Given the description of an element on the screen output the (x, y) to click on. 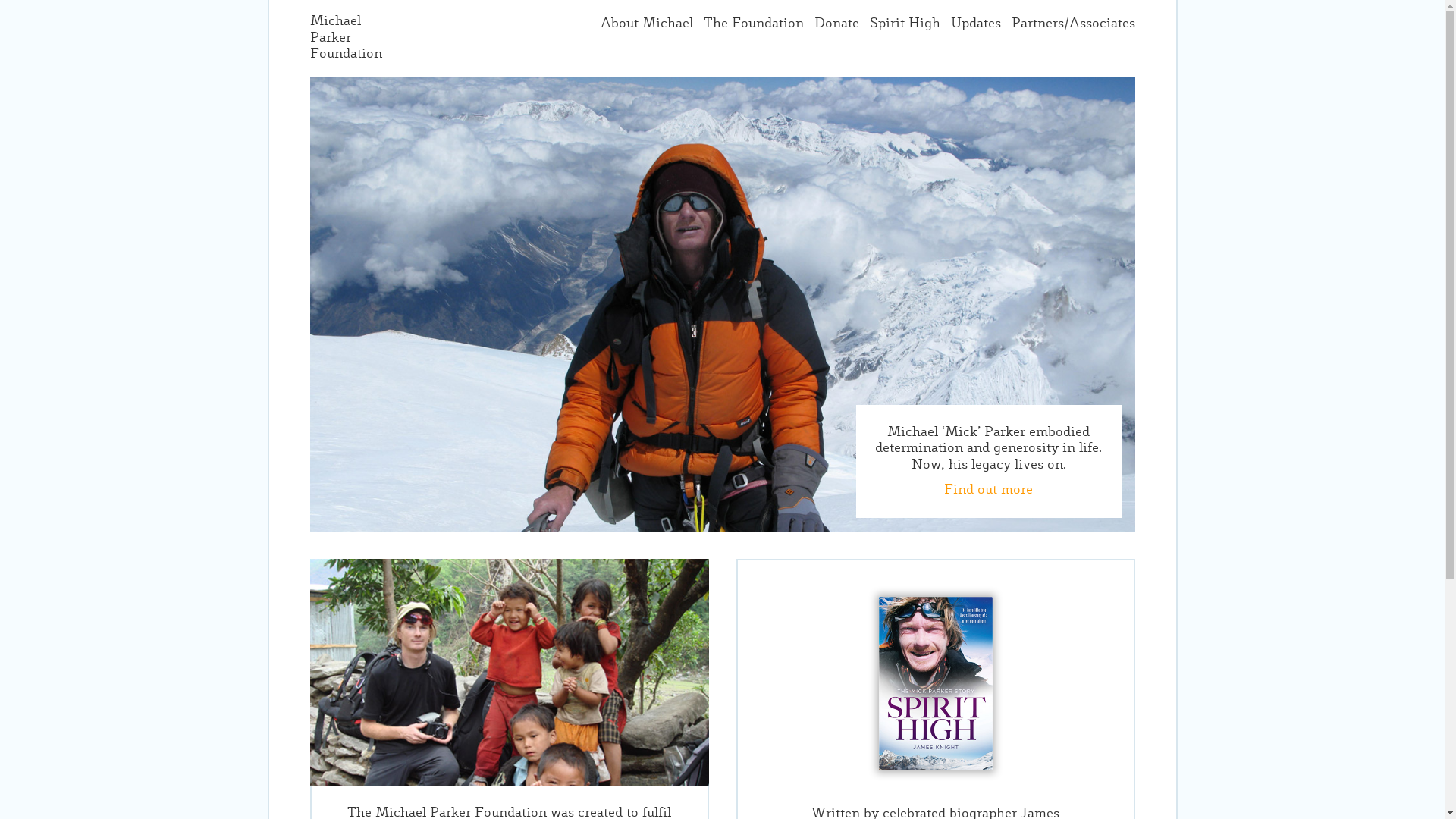
The Foundation Element type: text (753, 23)
Find out more Element type: text (988, 489)
About Michael Element type: text (646, 23)
Michael Parker Foundation Element type: text (345, 37)
Spirit High Element type: text (904, 23)
Partners/Associates Element type: text (1073, 23)
Updates Element type: text (975, 23)
Donate Element type: text (836, 23)
